Given the description of an element on the screen output the (x, y) to click on. 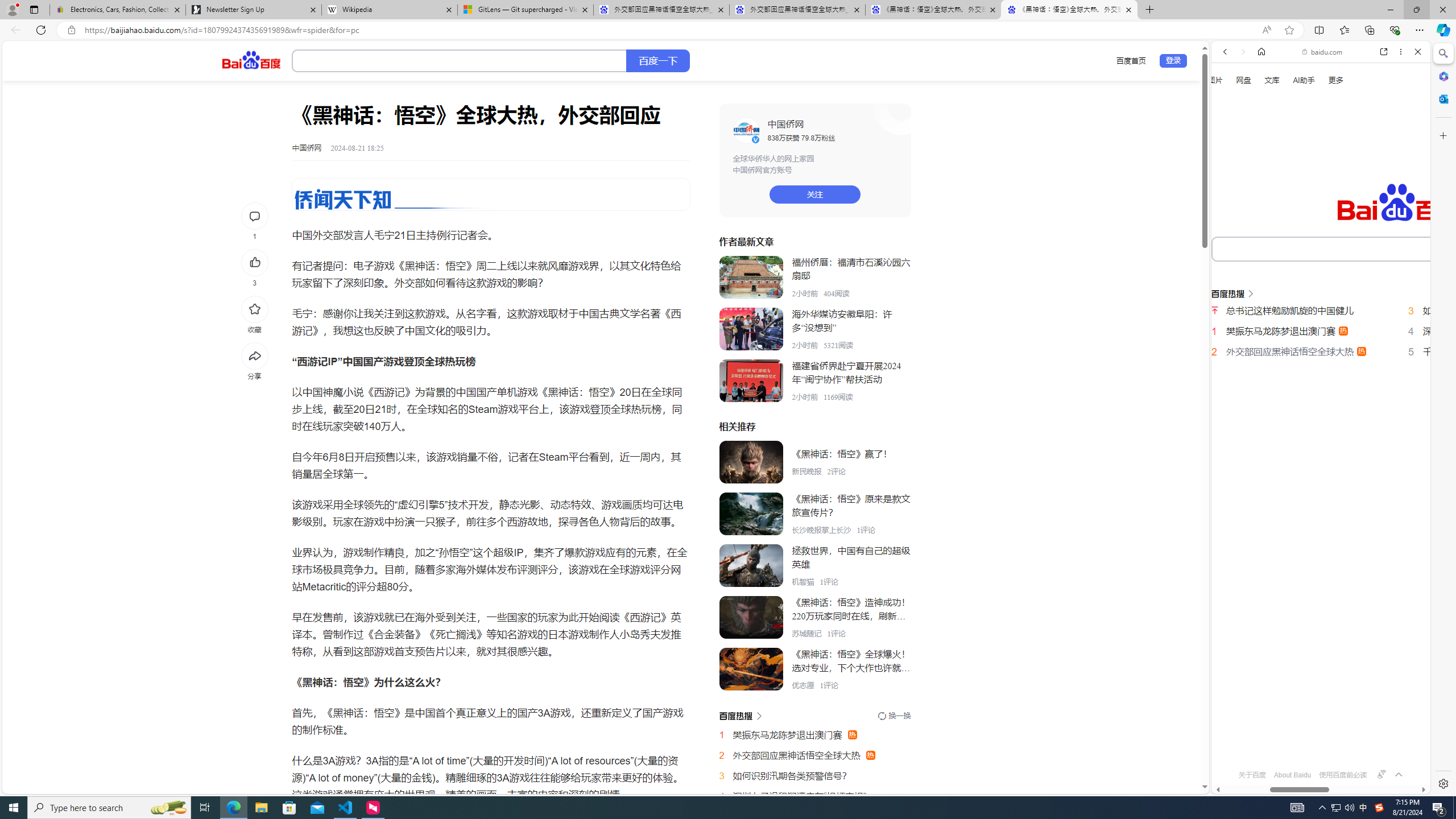
Class: b_serphb (1404, 193)
